Given the description of an element on the screen output the (x, y) to click on. 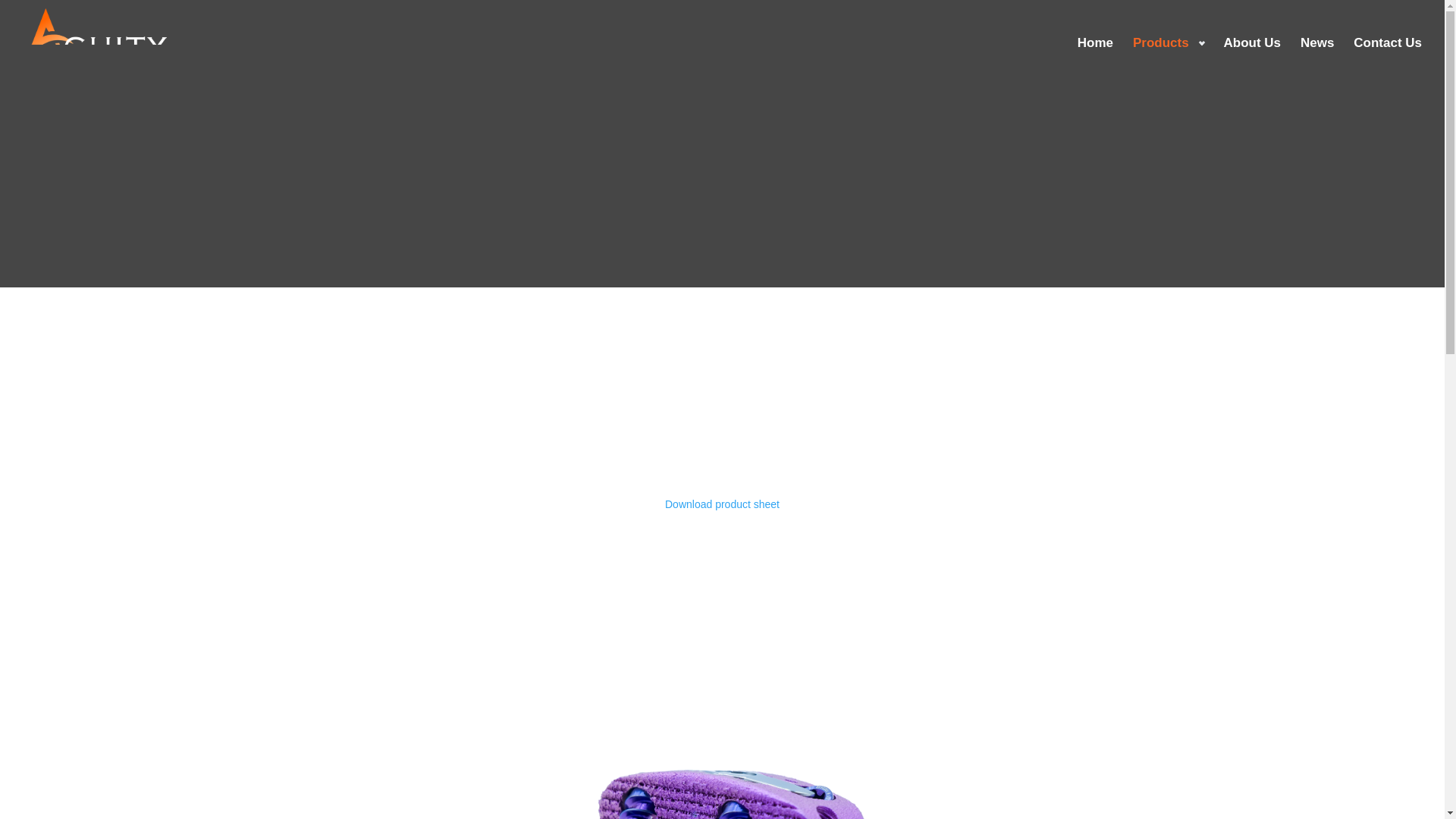
About Us (1252, 61)
Download product sheet (721, 503)
Contact Us (1388, 61)
Products (1168, 61)
